Given the description of an element on the screen output the (x, y) to click on. 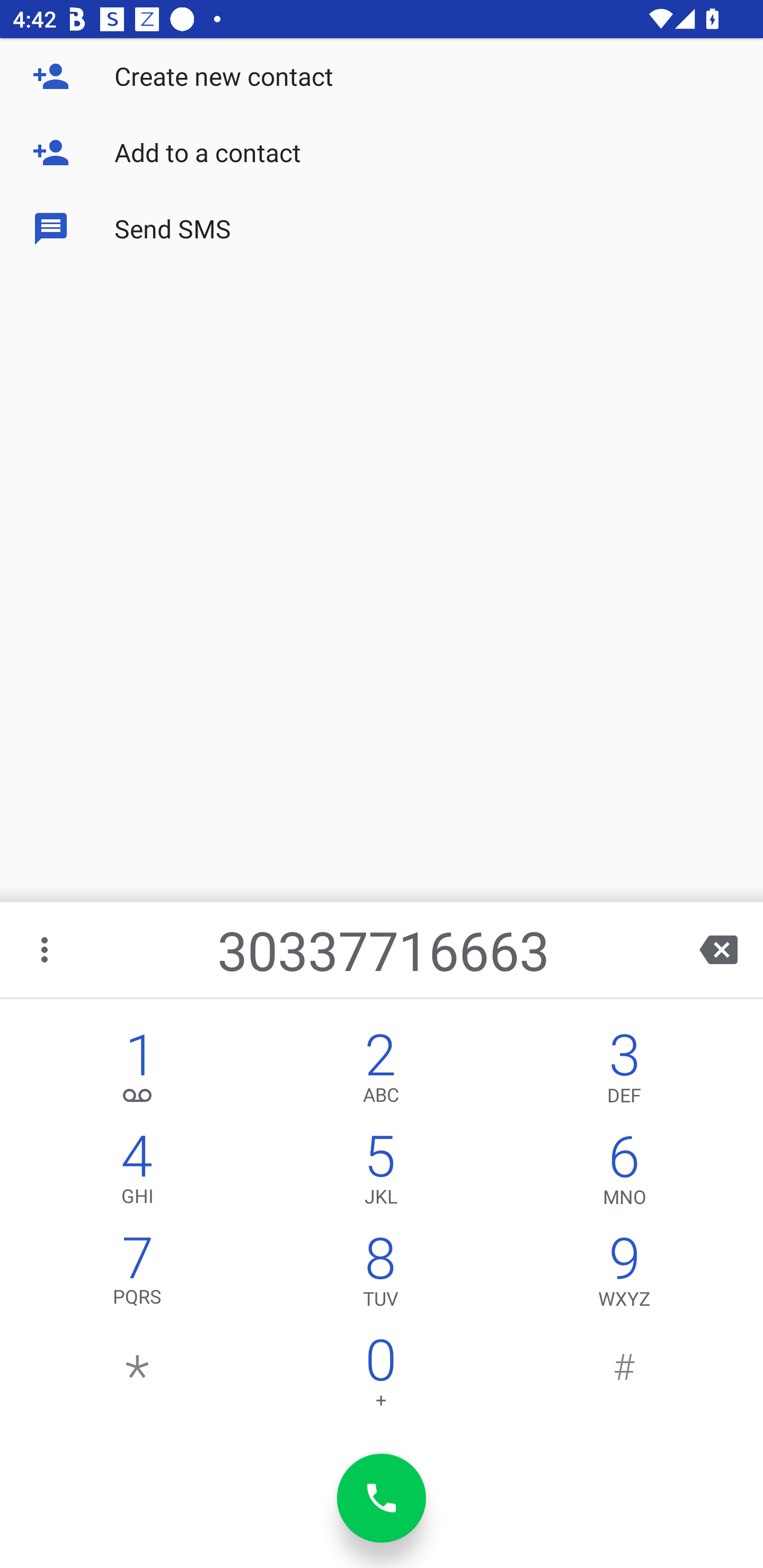
Create new contact (381, 75)
Add to a contact (381, 152)
Send SMS (381, 228)
30337716663 (382, 949)
backspace (718, 949)
More options (45, 949)
1, 1 (137, 1071)
2,ABC 2 ABC (380, 1071)
3,DEF 3 DEF (624, 1071)
4,GHI 4 GHI (137, 1173)
5,JKL 5 JKL (380, 1173)
6,MNO 6 MNO (624, 1173)
7,PQRS 7 PQRS (137, 1275)
8,TUV 8 TUV (380, 1275)
9,WXYZ 9 WXYZ (624, 1275)
* (137, 1377)
0 0 + (380, 1377)
# (624, 1377)
dial (381, 1497)
